Given the description of an element on the screen output the (x, y) to click on. 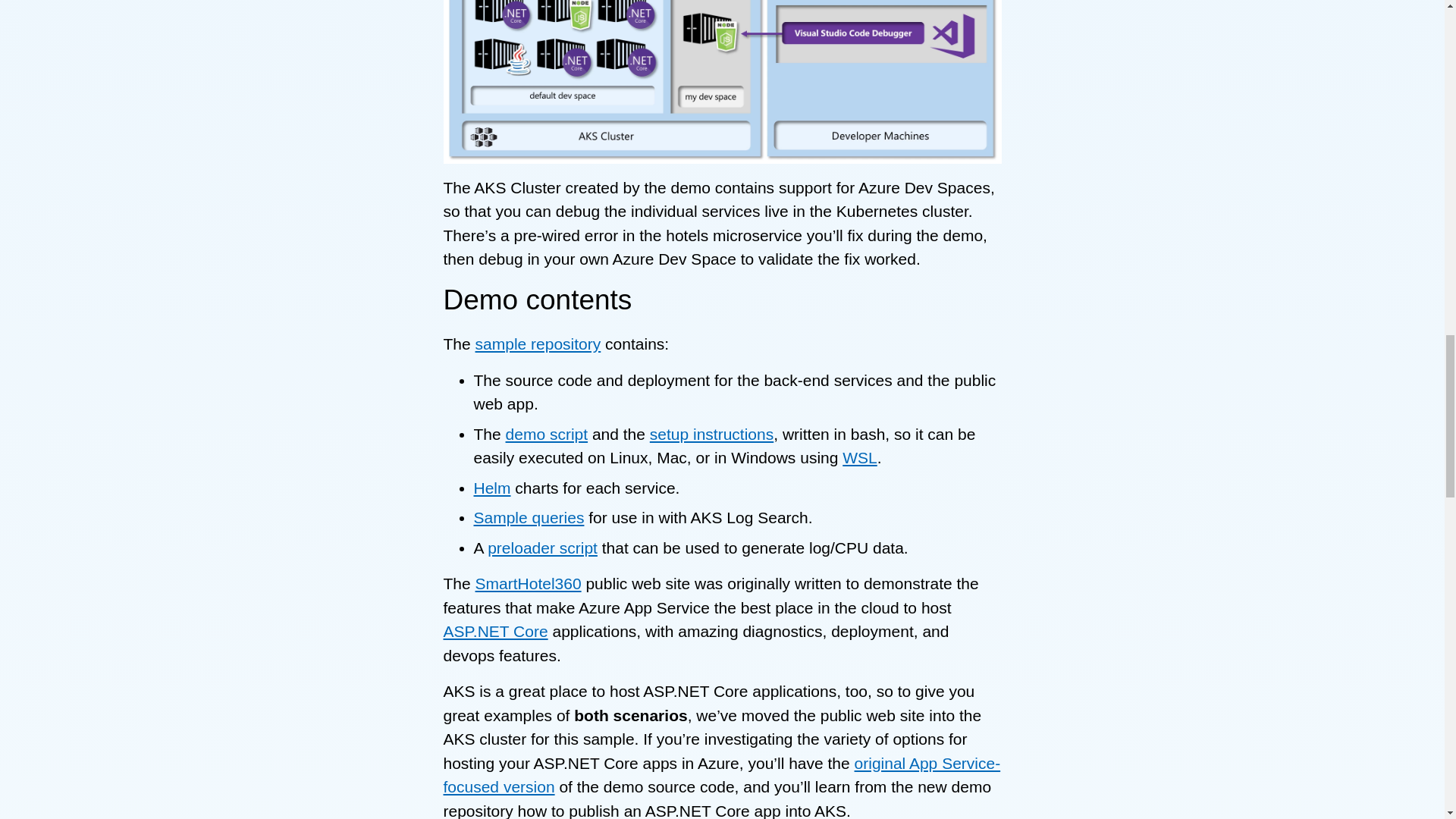
dev-spaces (721, 81)
